Given the description of an element on the screen output the (x, y) to click on. 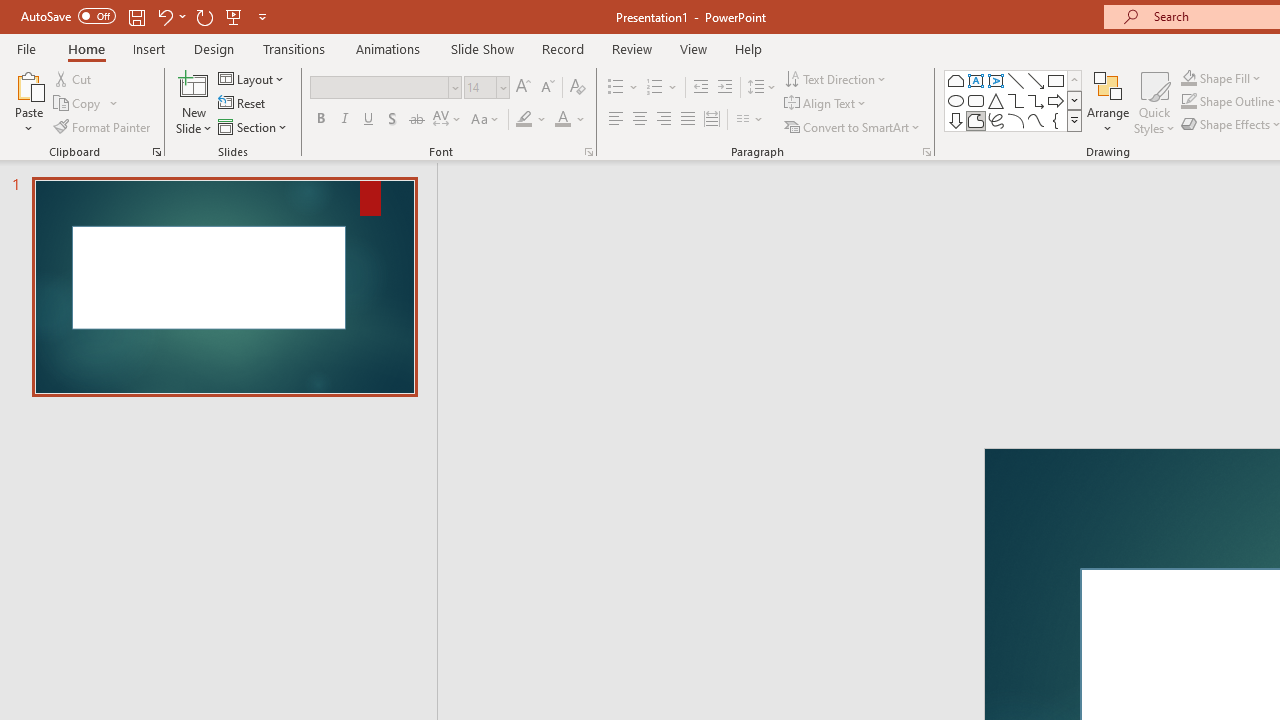
Distributed (712, 119)
Text Direction (836, 78)
Freeform: Shape (975, 120)
Format Painter (103, 126)
Justify (687, 119)
Shapes (1074, 120)
Increase Font Size (522, 87)
